Given the description of an element on the screen output the (x, y) to click on. 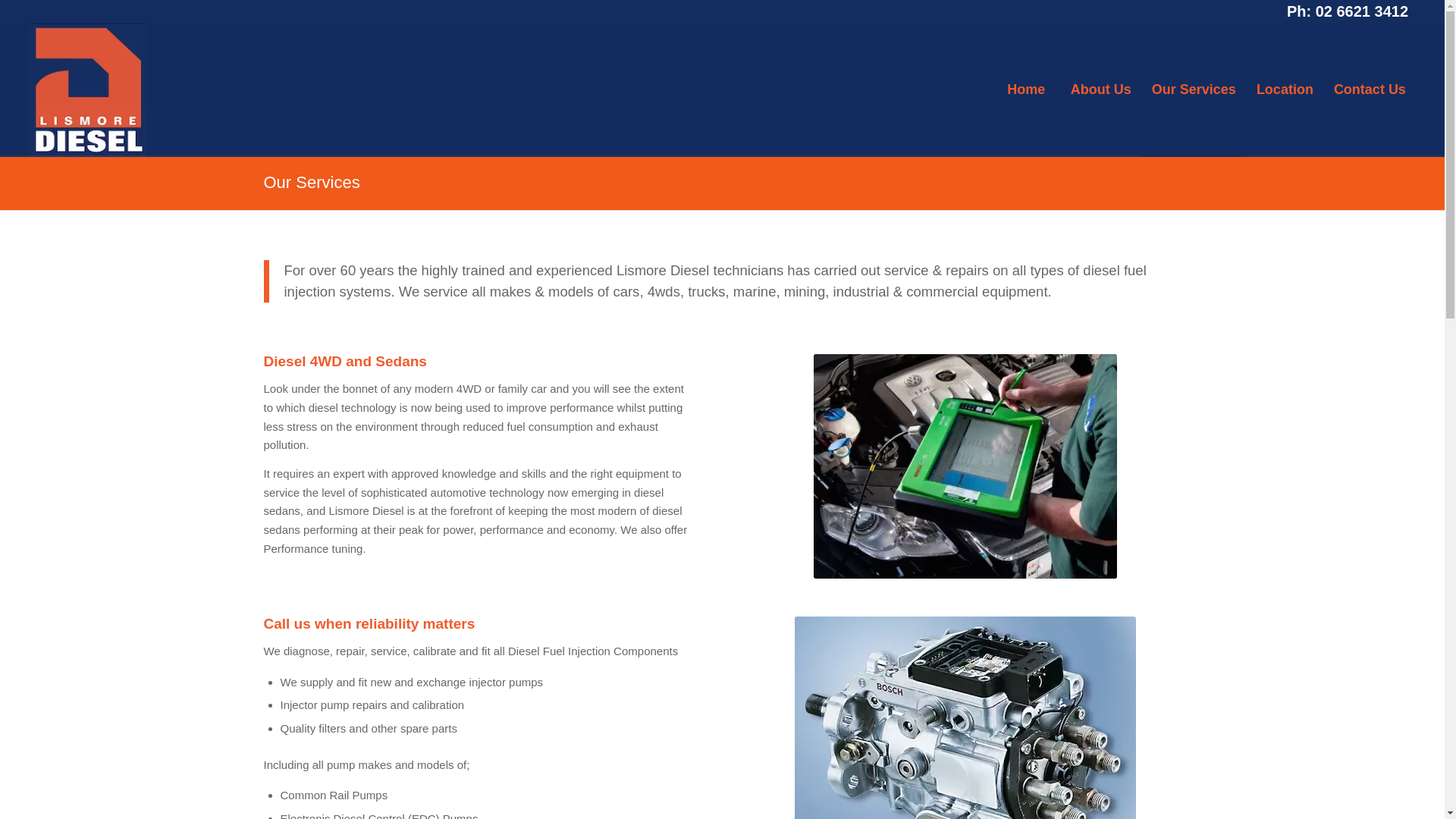
Home Element type: text (1025, 89)
Location Element type: text (1284, 89)
Lismore Diesel logo 200h Element type: hover (87, 89)
About Us Element type: text (1100, 89)
Our Services Element type: text (1193, 89)
Ph: 02 6621 3412 Element type: text (1347, 11)
Electronic Diesel Injection Diagnostic Equipment Element type: hover (965, 466)
Our Services Element type: text (311, 181)
Contact Us Element type: text (1369, 89)
